Given the description of an element on the screen output the (x, y) to click on. 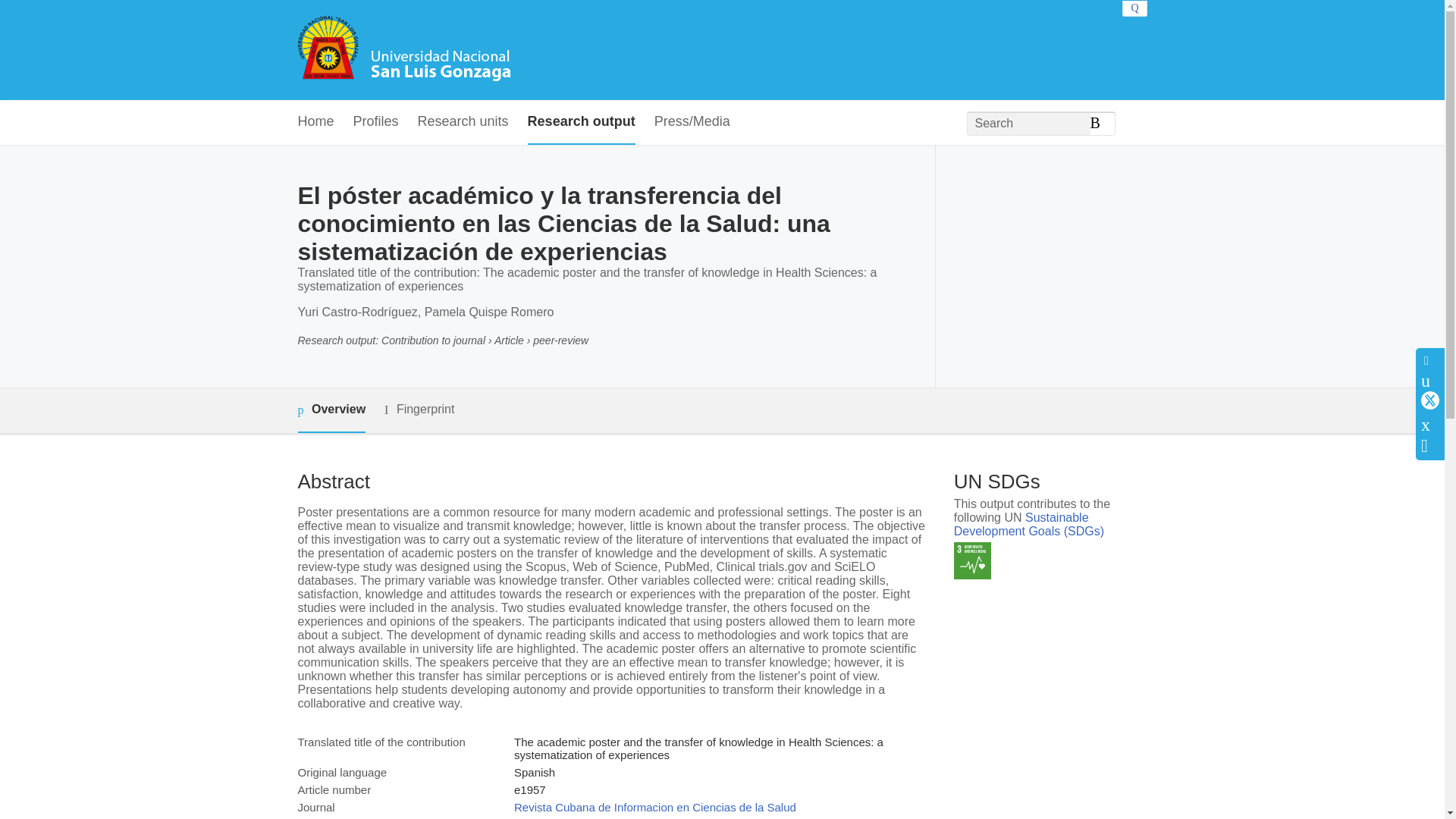
Profiles (375, 121)
Overview (331, 410)
Fingerprint (419, 409)
SDG 3 - Good Health and Well-being (972, 560)
Research units (462, 121)
San Luis Gonzaga National University of Ica Home (404, 50)
Revista Cubana de Informacion en Ciencias de la Salud (654, 807)
Research output (580, 121)
